Given the description of an element on the screen output the (x, y) to click on. 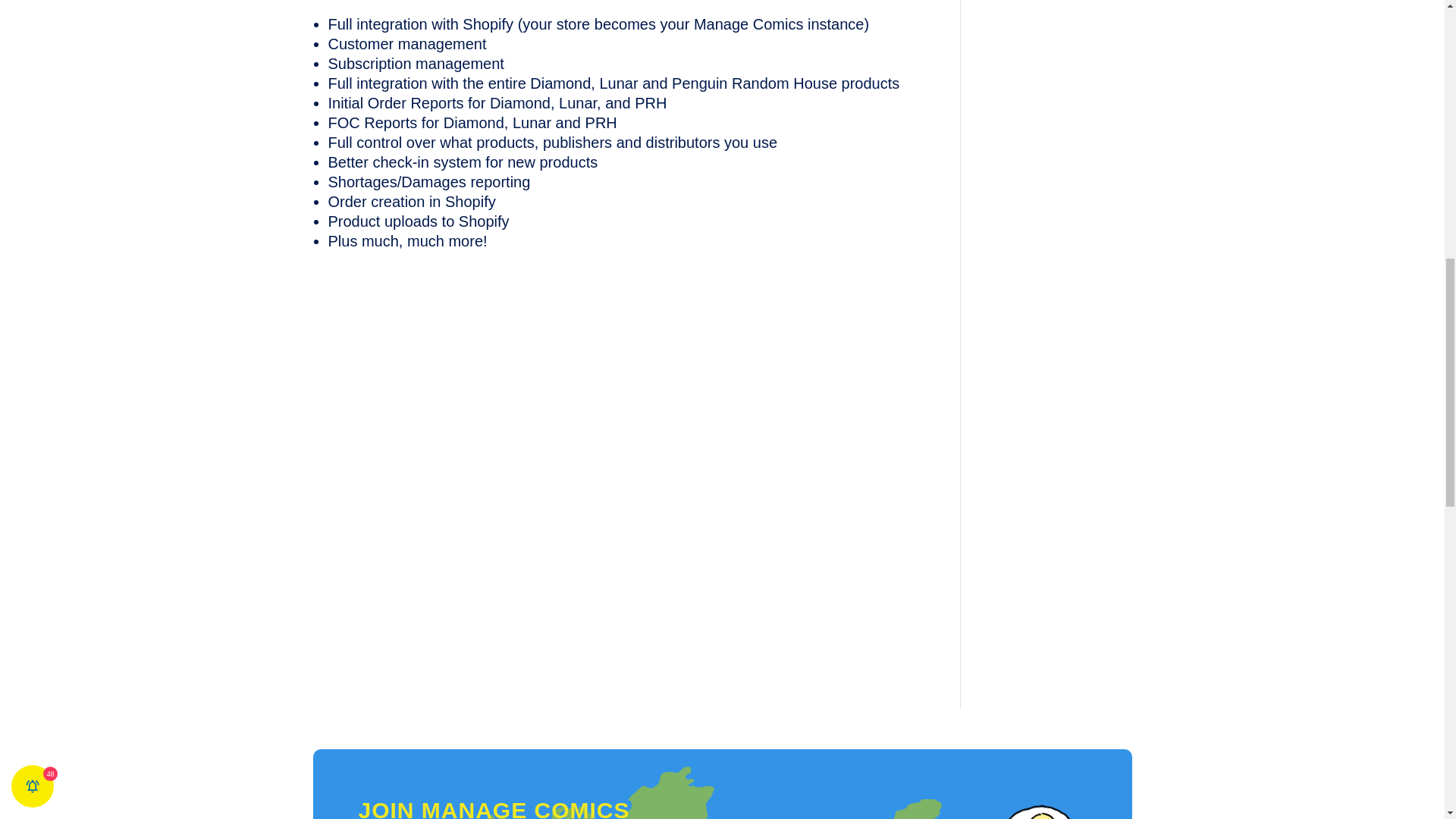
roboto-footer (965, 806)
